Given the description of an element on the screen output the (x, y) to click on. 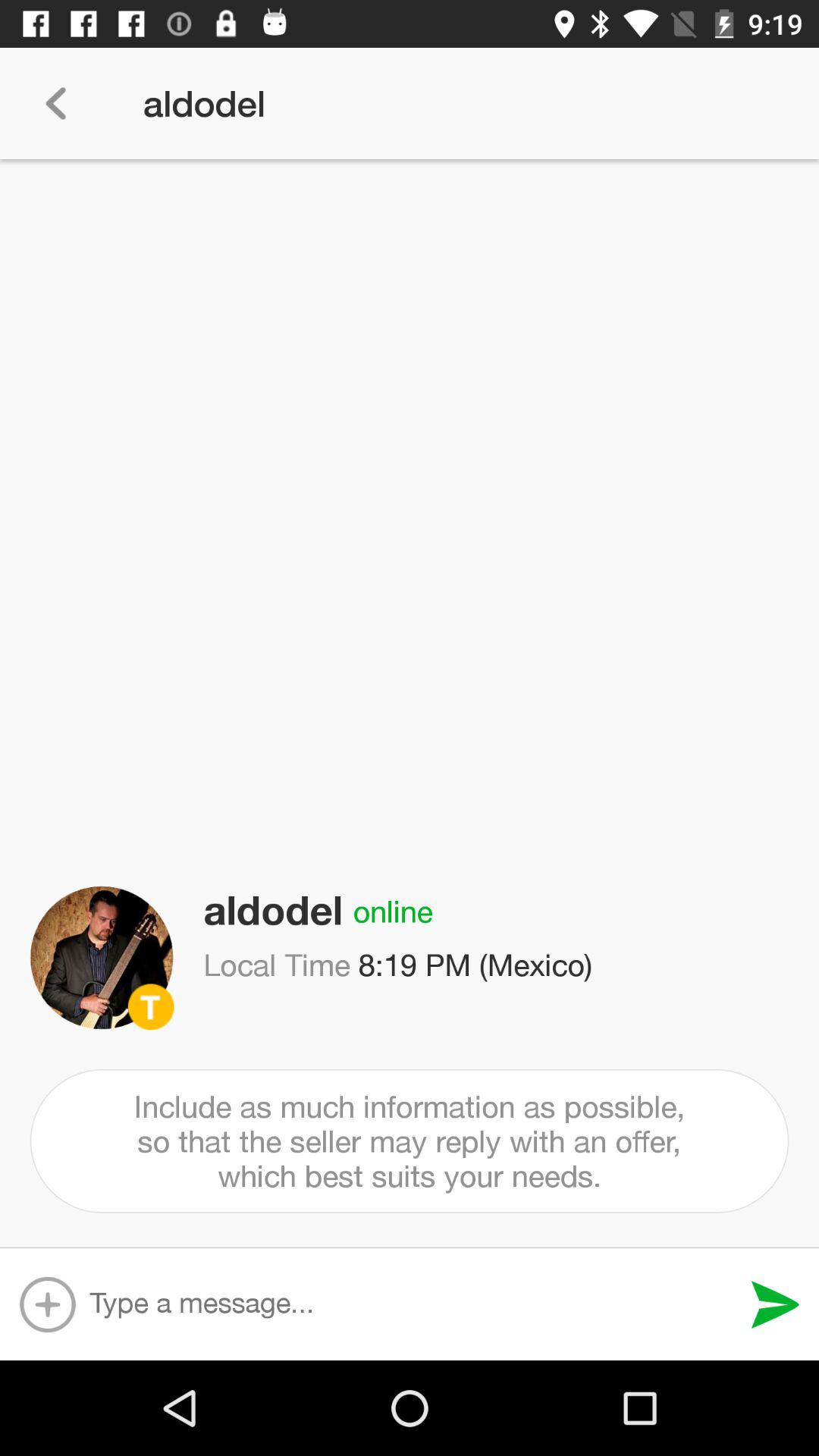
send message (775, 1304)
